Given the description of an element on the screen output the (x, y) to click on. 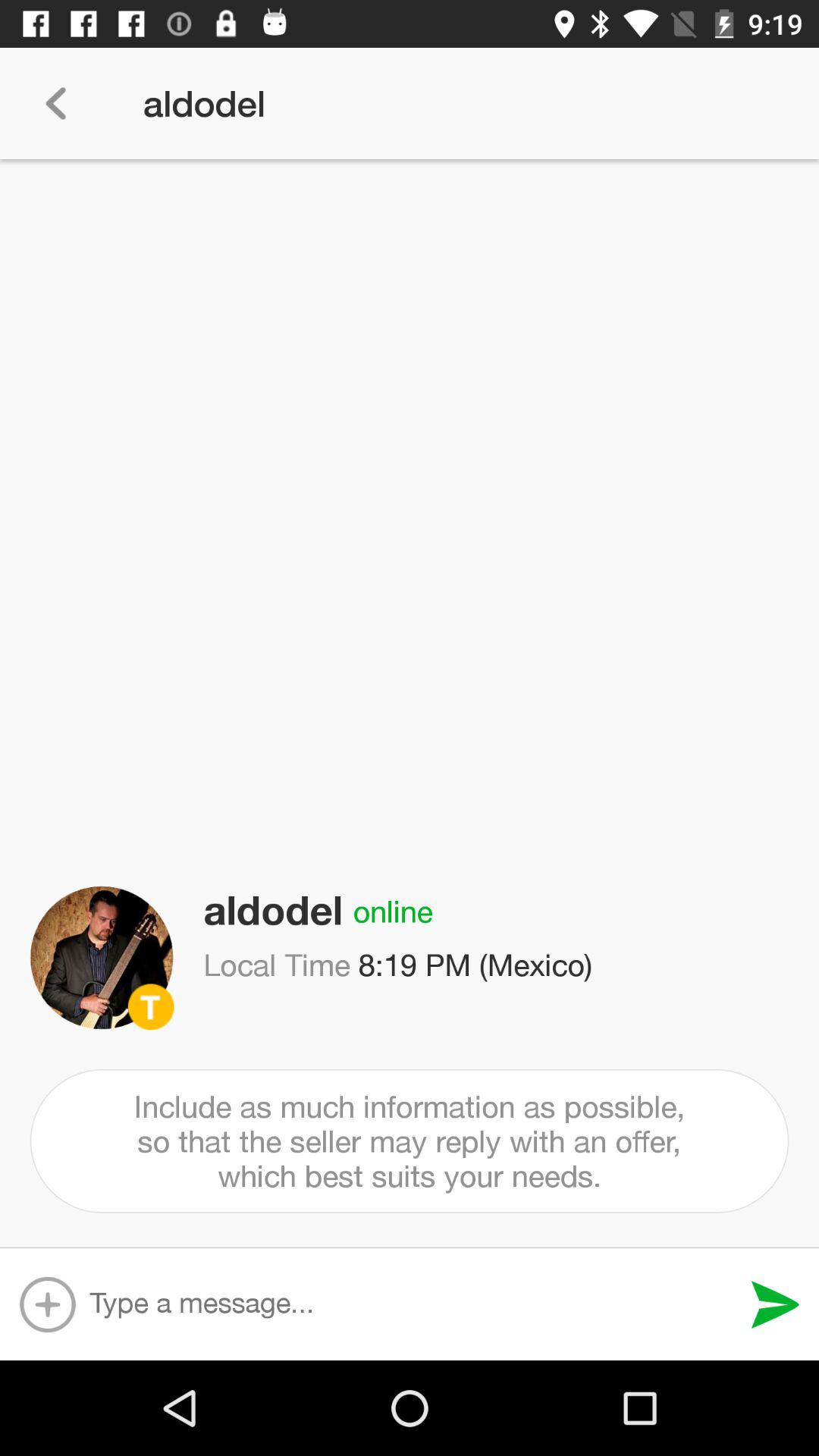
send message (775, 1304)
